Given the description of an element on the screen output the (x, y) to click on. 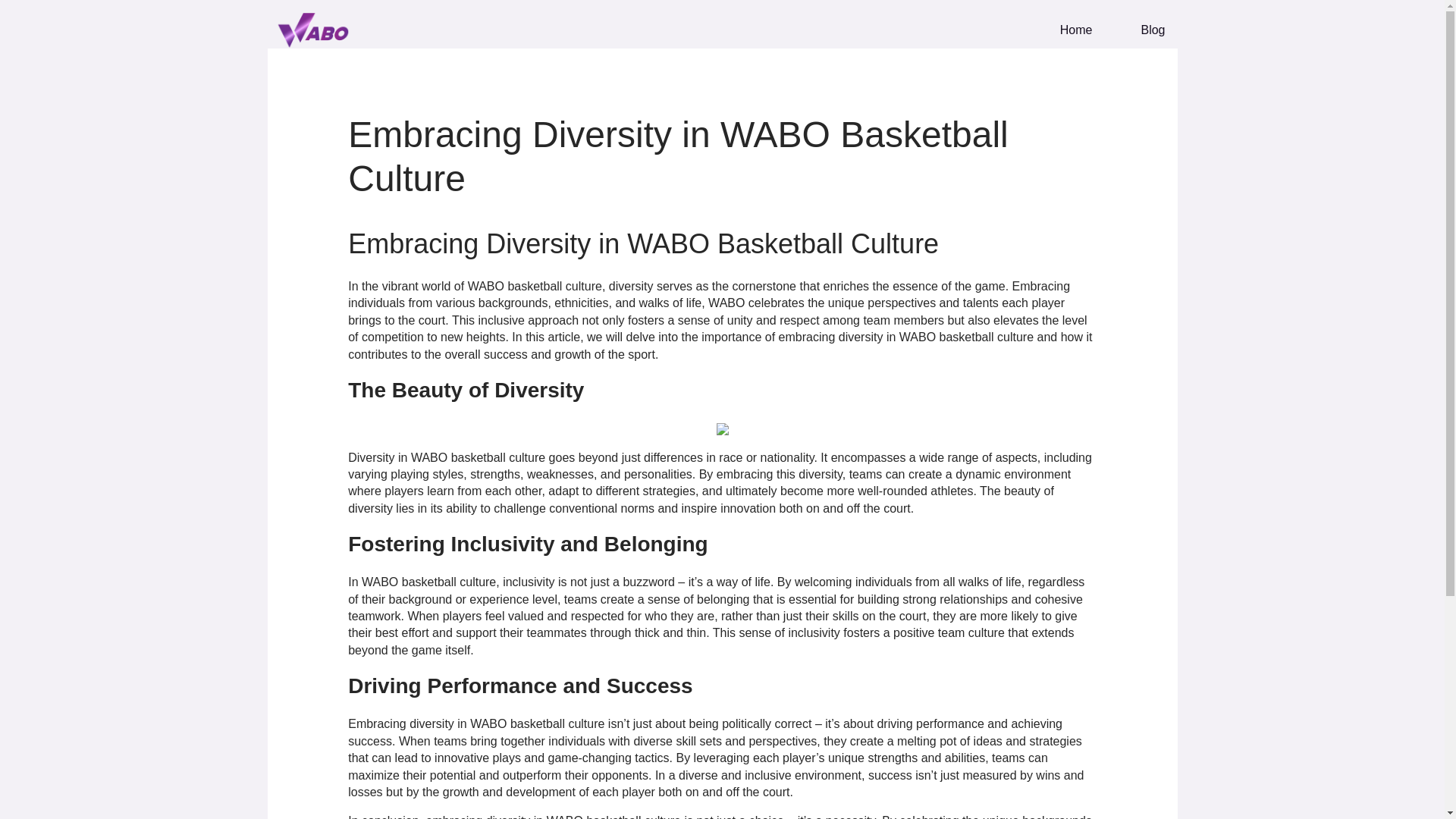
Blog (1139, 29)
Home (1064, 29)
